Given the description of an element on the screen output the (x, y) to click on. 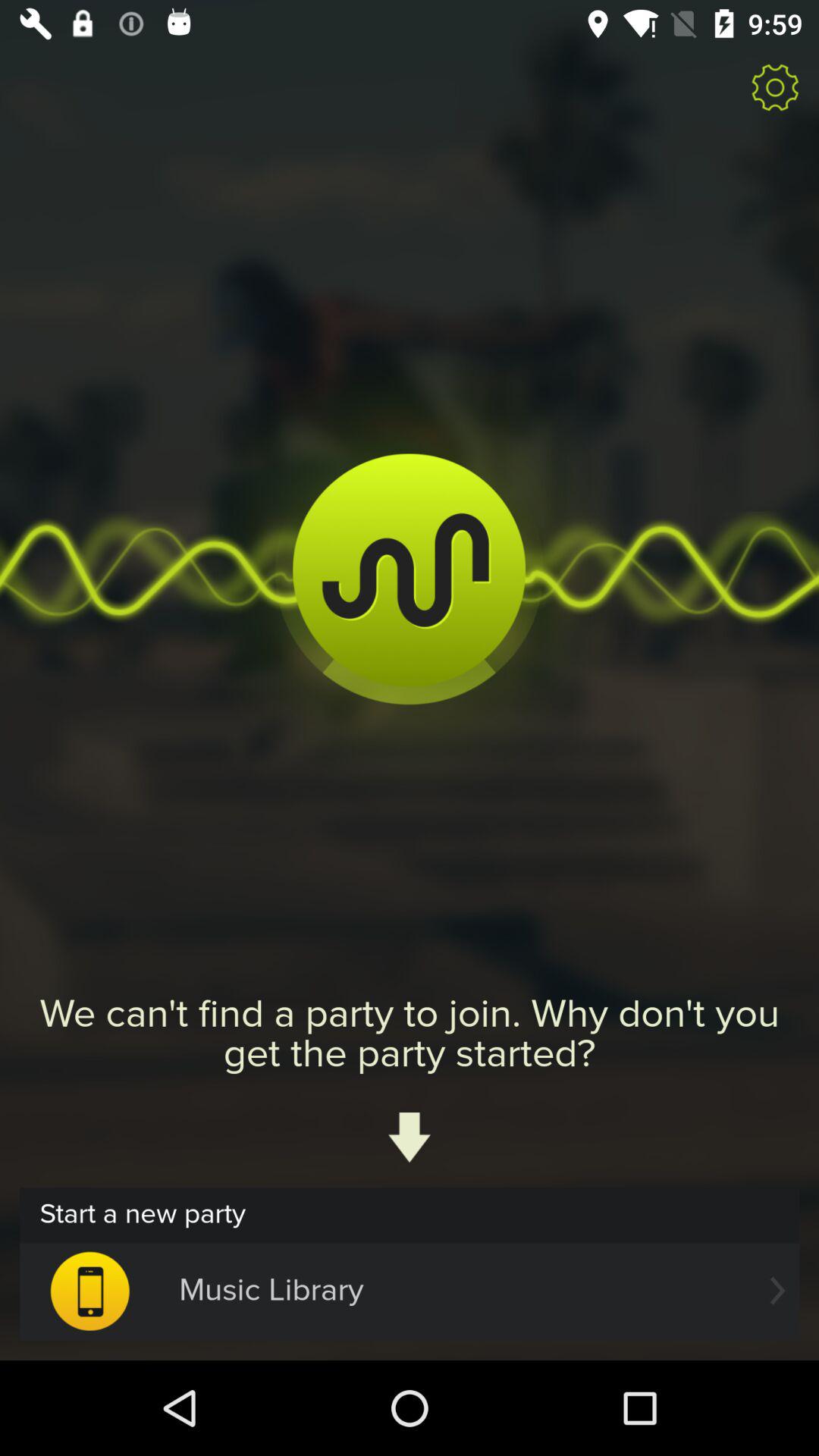
turn off item below start a new item (409, 1290)
